Given the description of an element on the screen output the (x, y) to click on. 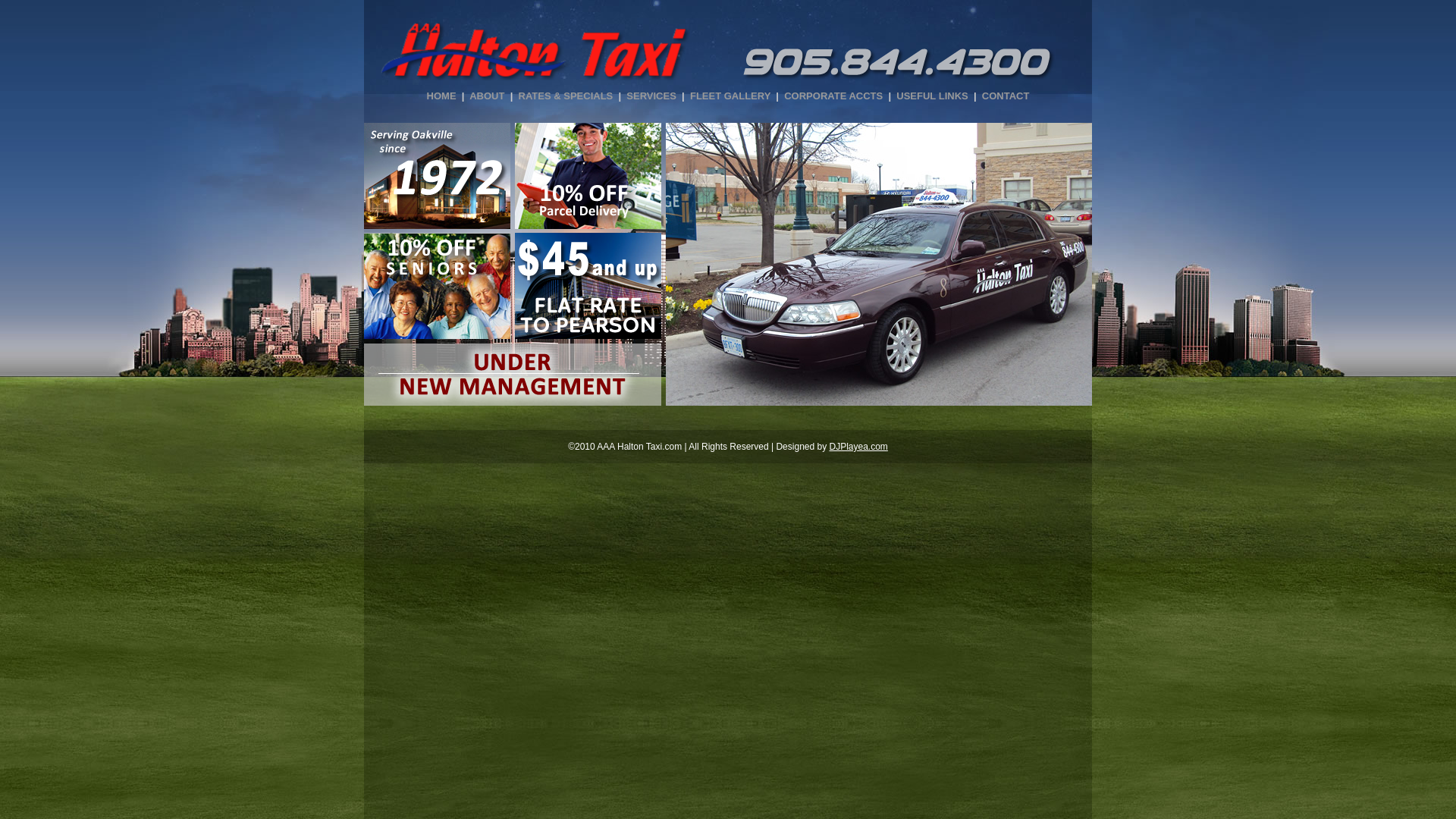
SERVICES Element type: text (651, 95)
USEFUL LINKS Element type: text (931, 95)
CORPORATE ACCTS Element type: text (833, 95)
HOME Element type: text (441, 95)
FLEET GALLERY Element type: text (730, 95)
ABOUT Element type: text (486, 95)
CONTACT Element type: text (1005, 95)
DJPlayea.com Element type: text (858, 446)
RATES & SPECIALS Element type: text (565, 95)
